Given the description of an element on the screen output the (x, y) to click on. 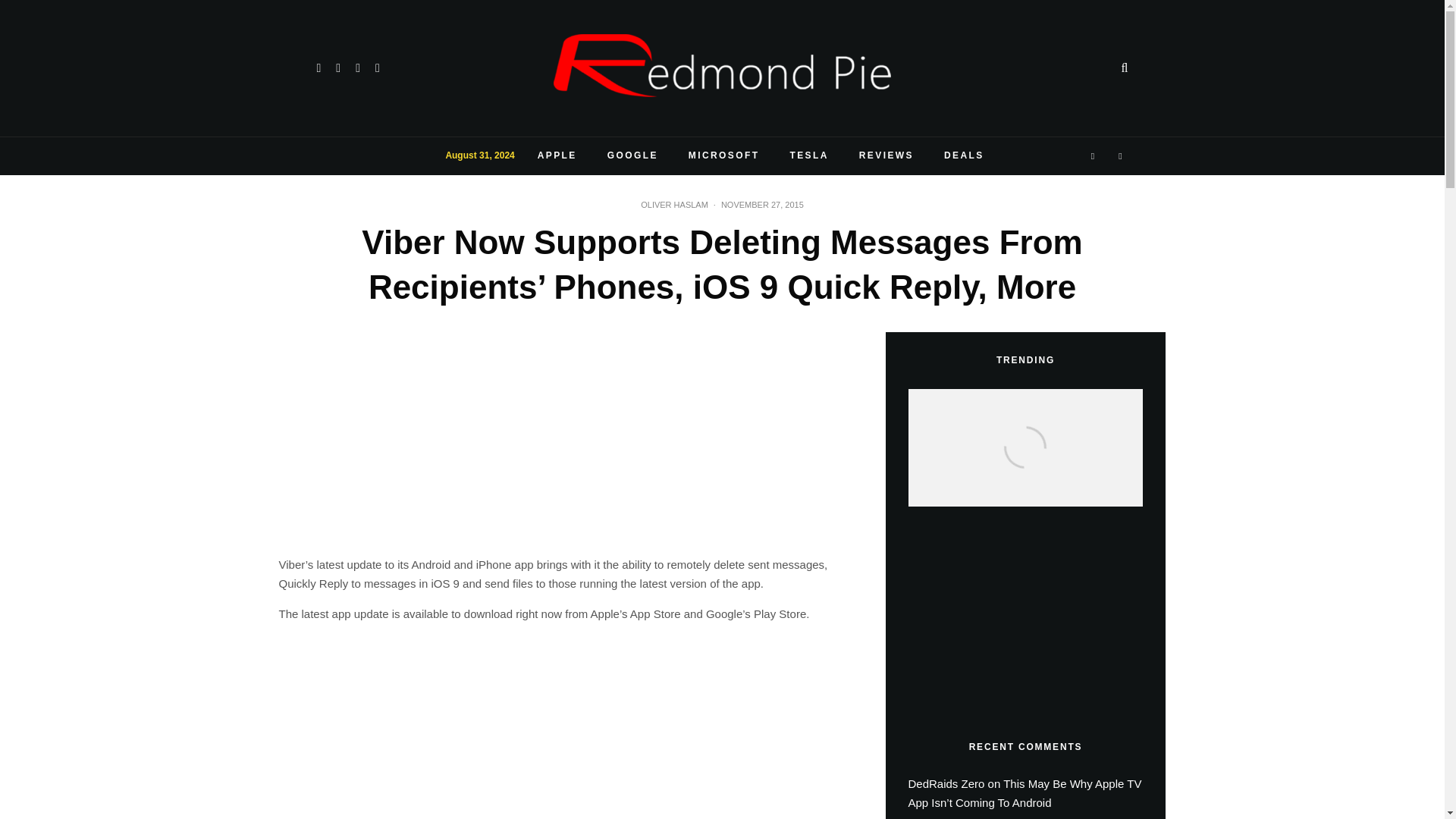
GOOGLE (632, 156)
TESLA (808, 156)
MICROSOFT (723, 156)
APPLE (557, 156)
